Given the description of an element on the screen output the (x, y) to click on. 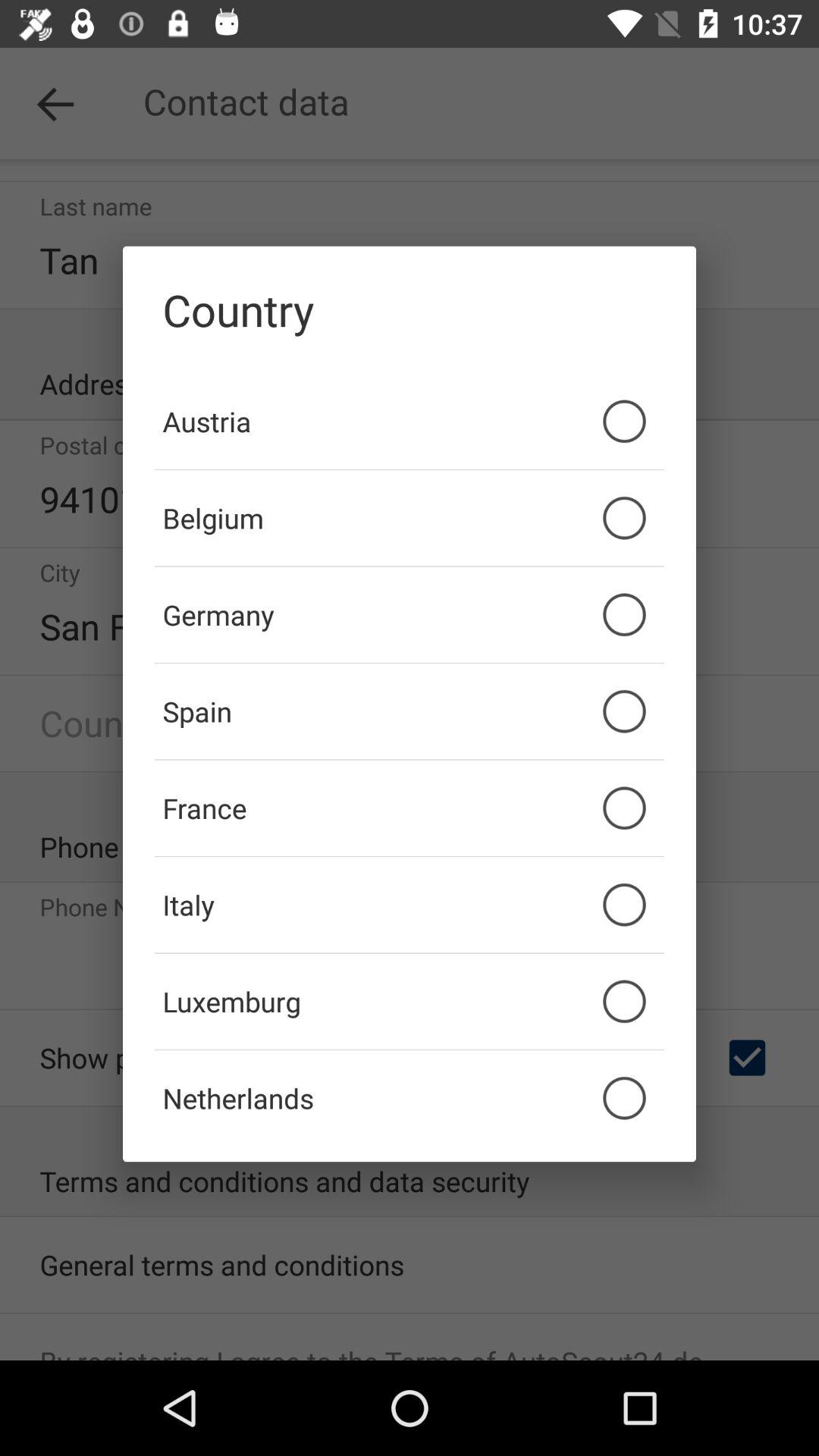
open the germany icon (409, 614)
